Given the description of an element on the screen output the (x, y) to click on. 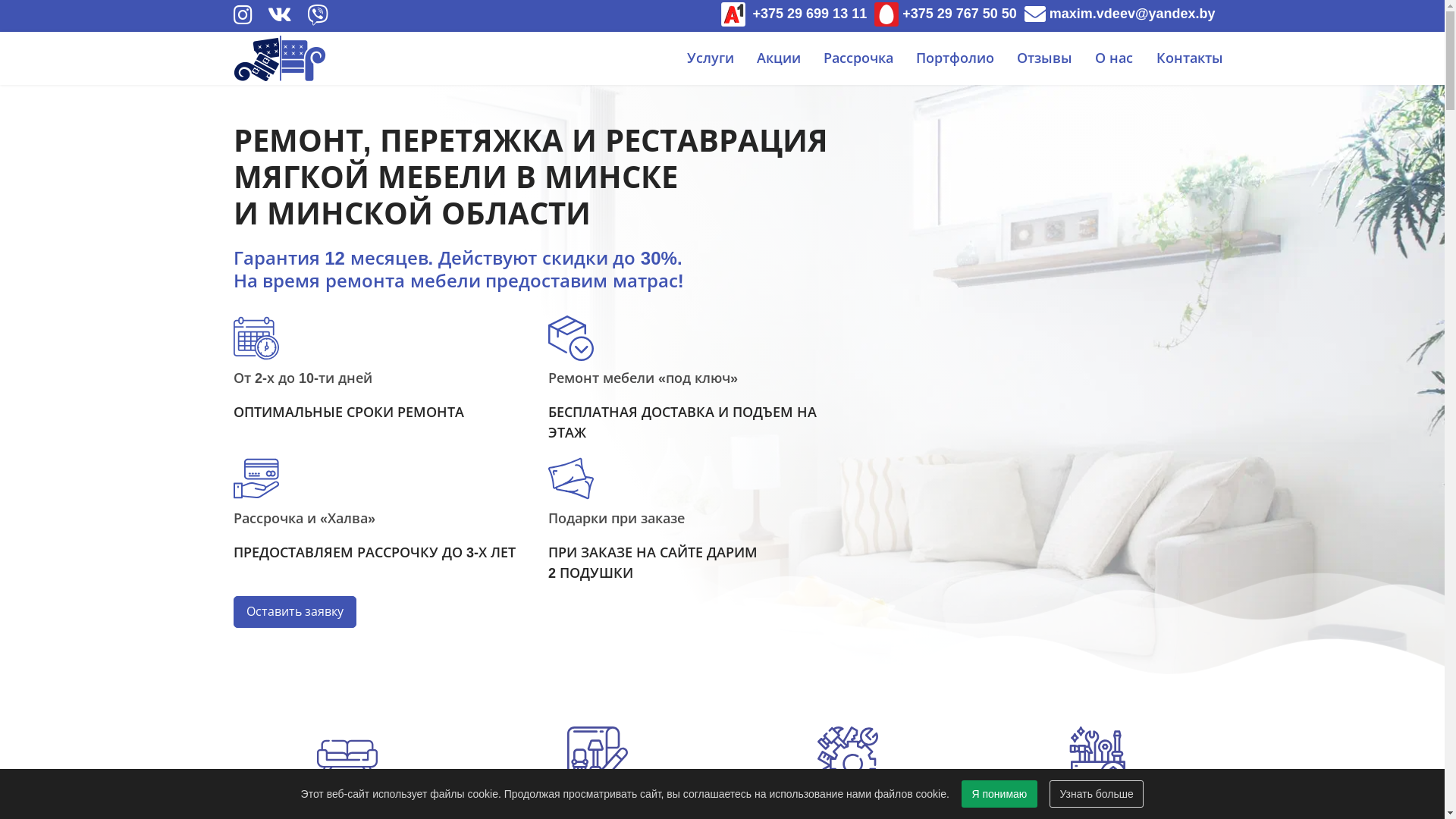
+375 29 699 13 11 Element type: text (794, 13)
+375 29 767 50 50 Element type: text (945, 13)
maxim.vdeev@yandex.by Element type: text (1119, 13)
